Given the description of an element on the screen output the (x, y) to click on. 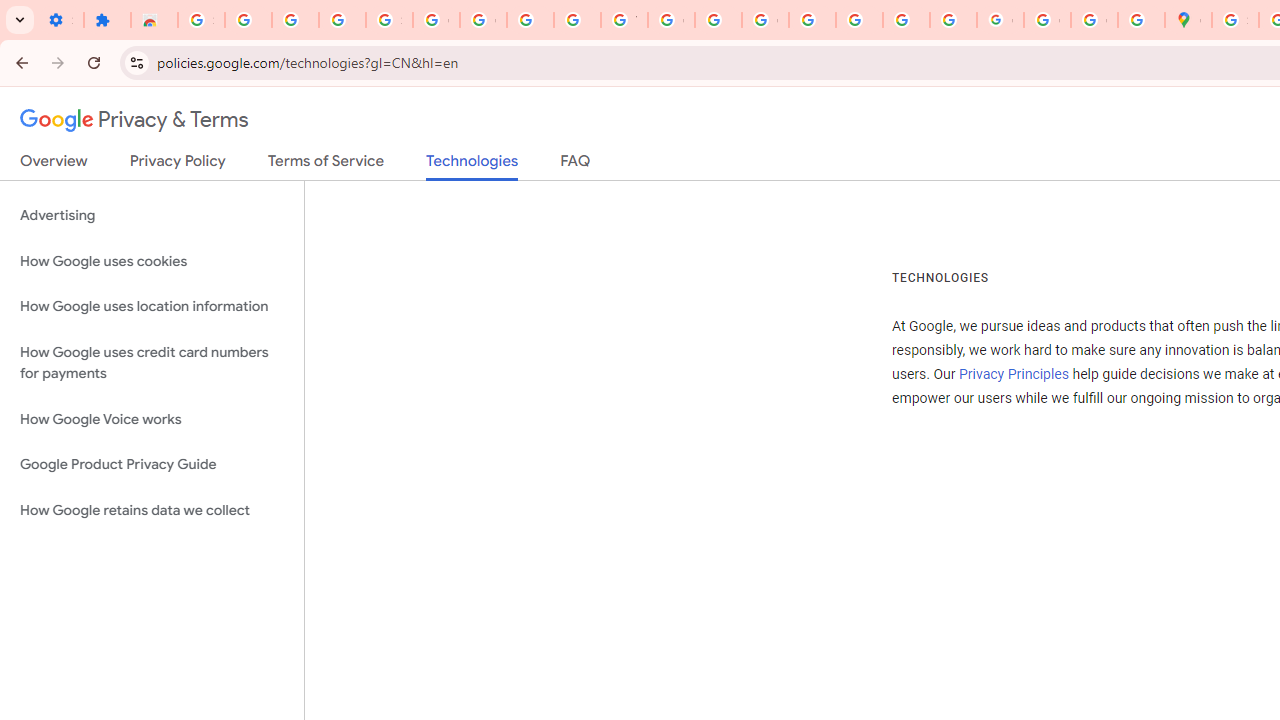
How Google uses credit card numbers for payments (152, 362)
How Google uses location information (152, 306)
Settings - On startup (60, 20)
YouTube (623, 20)
Delete photos & videos - Computer - Google Photos Help (248, 20)
https://scholar.google.com/ (718, 20)
How Google Voice works (152, 419)
Advertising (152, 215)
Privacy & Terms (134, 120)
